Given the description of an element on the screen output the (x, y) to click on. 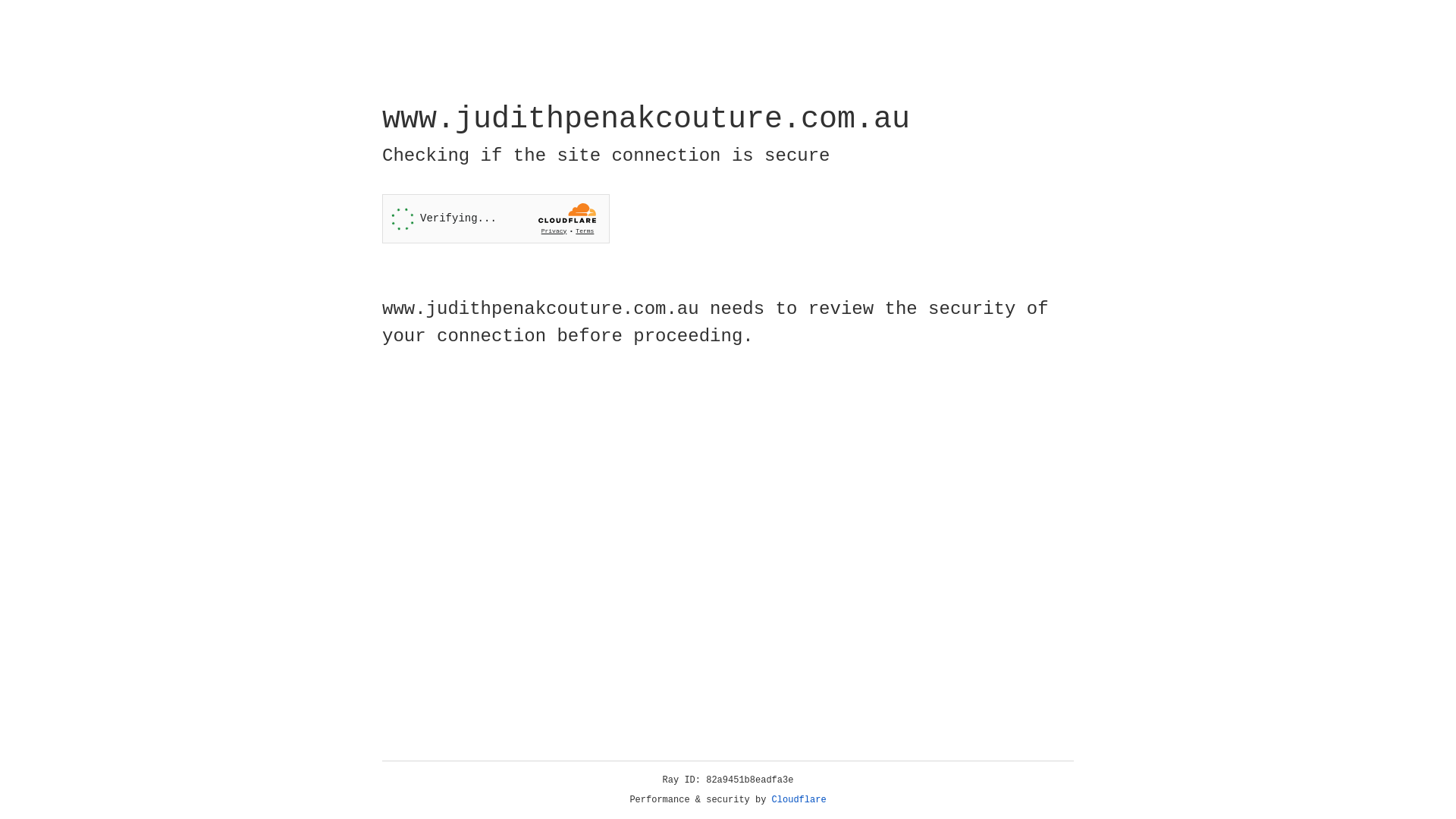
Cloudflare Element type: text (798, 799)
Widget containing a Cloudflare security challenge Element type: hover (495, 218)
